Given the description of an element on the screen output the (x, y) to click on. 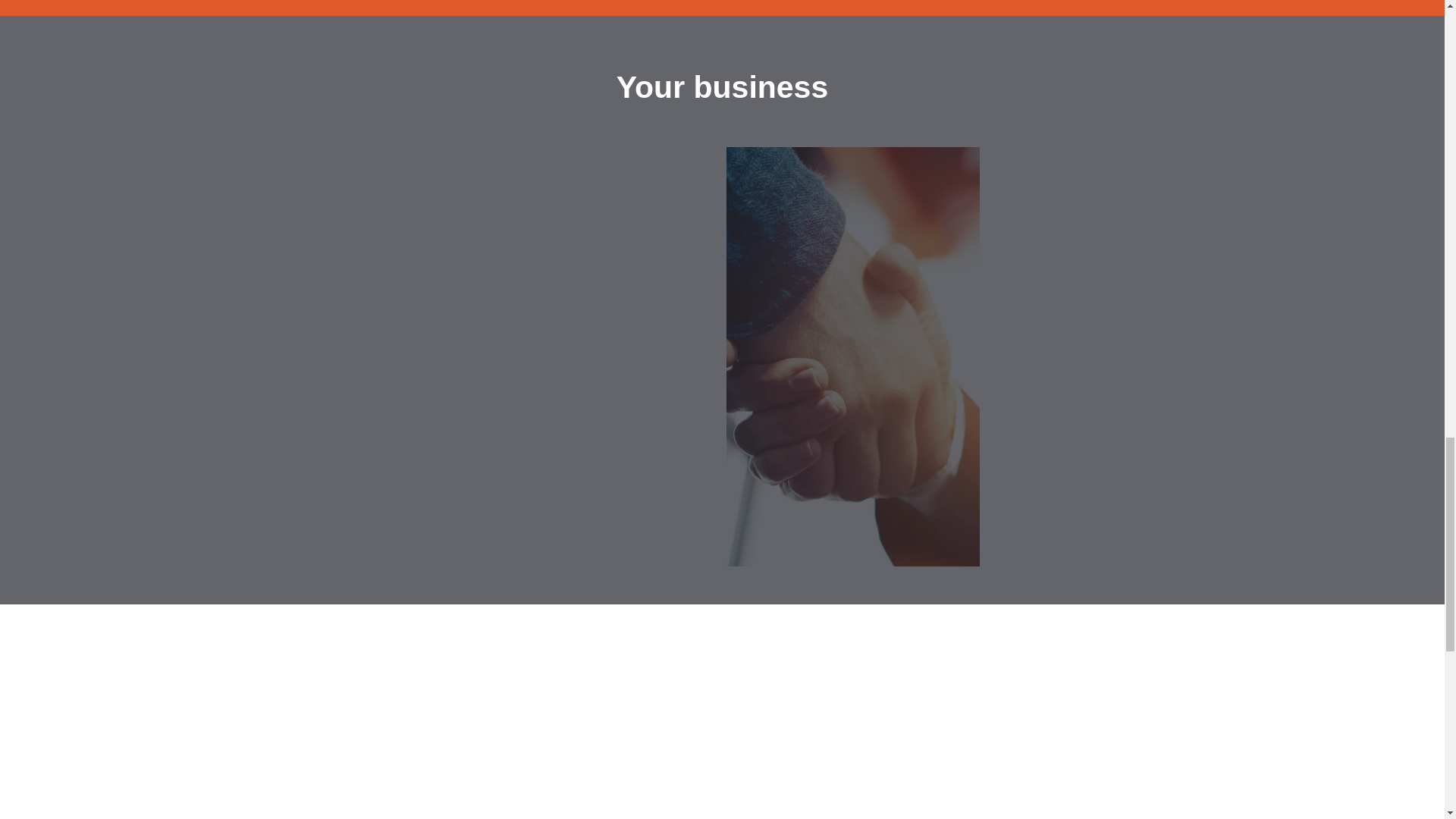
Page 1 (722, 90)
